Given the description of an element on the screen output the (x, y) to click on. 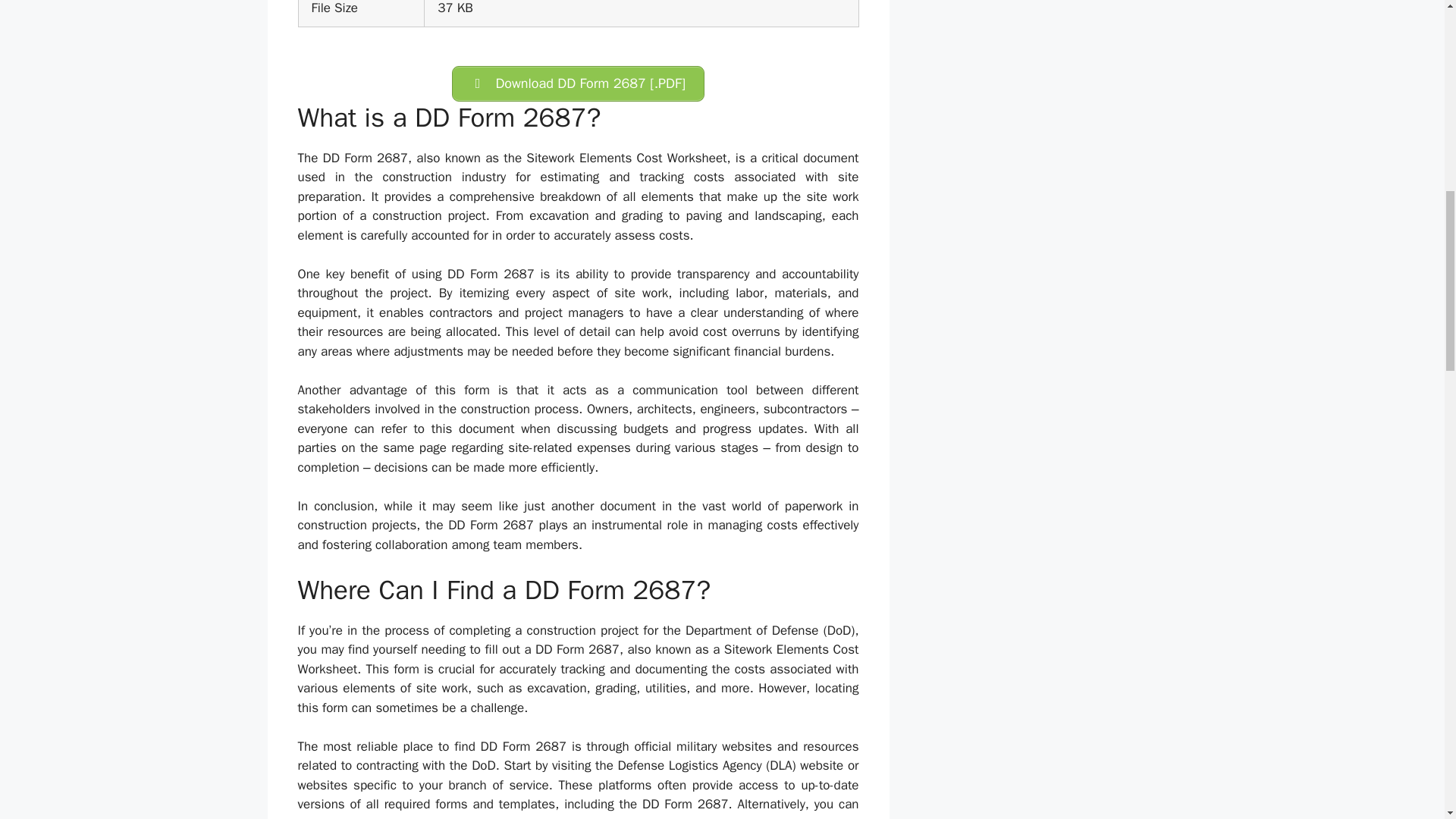
Download DD Form 2687 (577, 83)
